Given the description of an element on the screen output the (x, y) to click on. 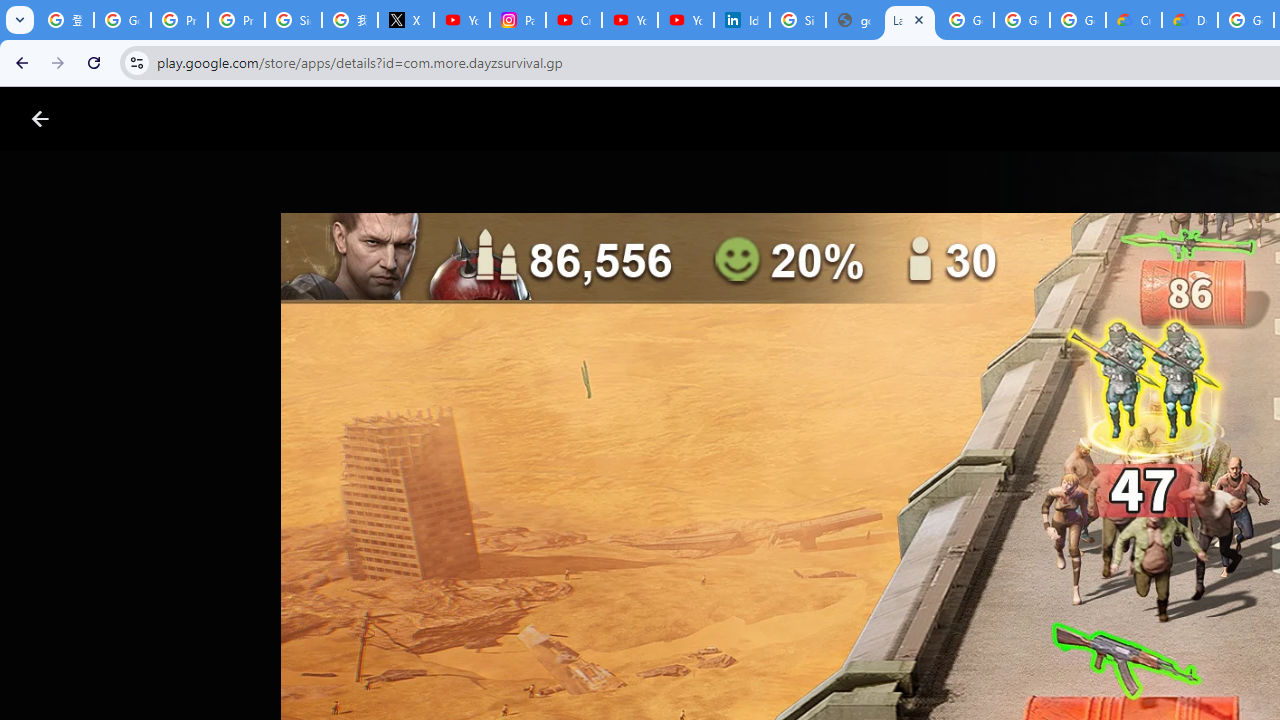
Content rating (973, 656)
Sign in - Google Accounts (293, 20)
Privacy Help Center - Policies Help (235, 20)
